Given the description of an element on the screen output the (x, y) to click on. 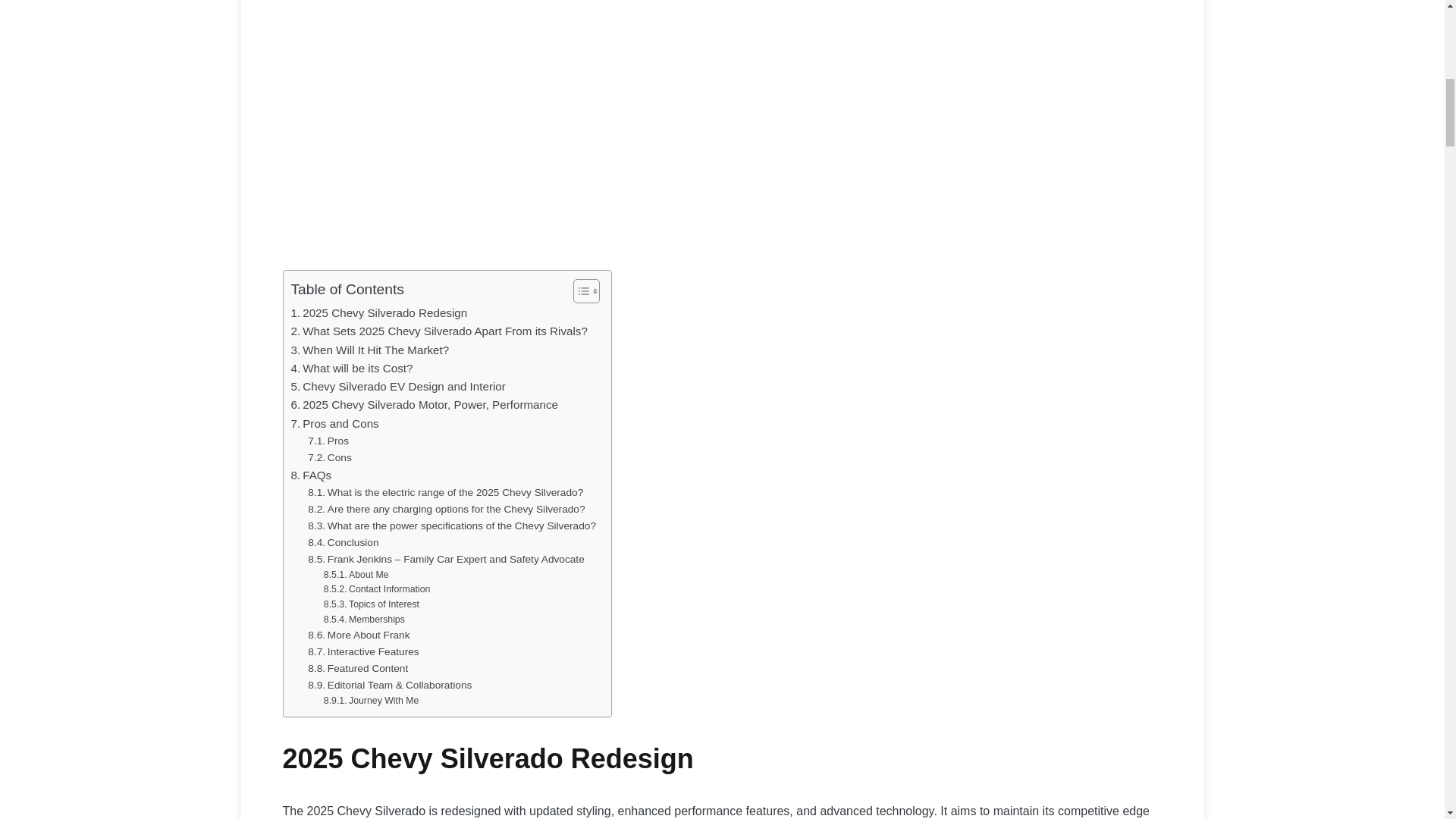
Are there any charging options for the Chevy Silverado? (446, 509)
Pros and Cons (334, 423)
FAQs (311, 475)
What is the electric range of the 2025 Chevy Silverado? (445, 492)
2025 Chevy Silverado Motor, Power, Performance (425, 404)
Pros (328, 441)
Contact Information (376, 589)
Cons (328, 457)
Chevy Silverado EV Design and Interior (398, 386)
What are the power specifications of the Chevy Silverado? (451, 525)
